Given the description of an element on the screen output the (x, y) to click on. 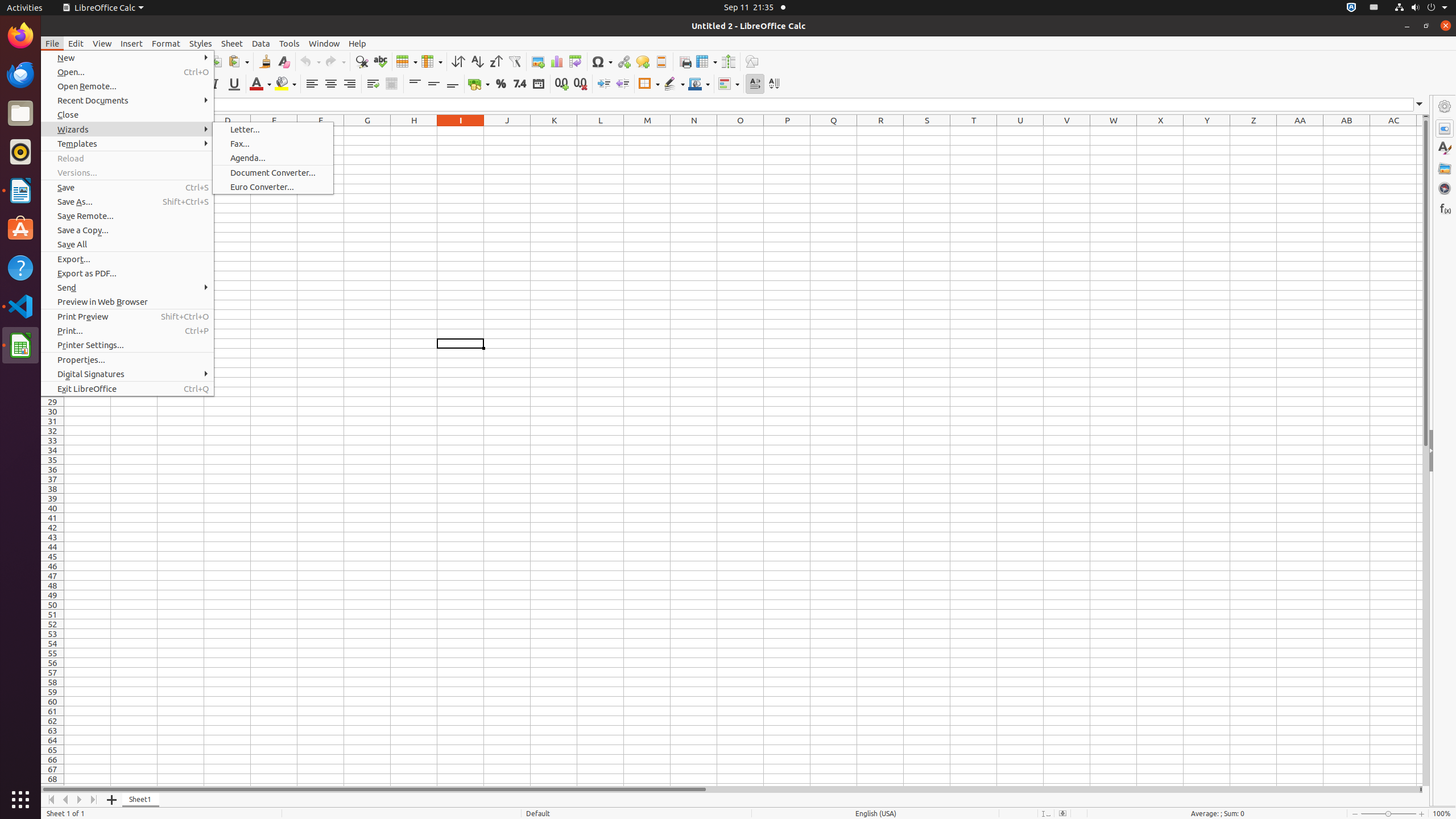
Sheet1 Element type: page-tab (140, 799)
Close Element type: menu-item (126, 114)
Data Element type: menu (260, 43)
Sort Descending Element type: push-button (495, 61)
Freeze Rows and Columns Element type: push-button (705, 61)
